Given the description of an element on the screen output the (x, y) to click on. 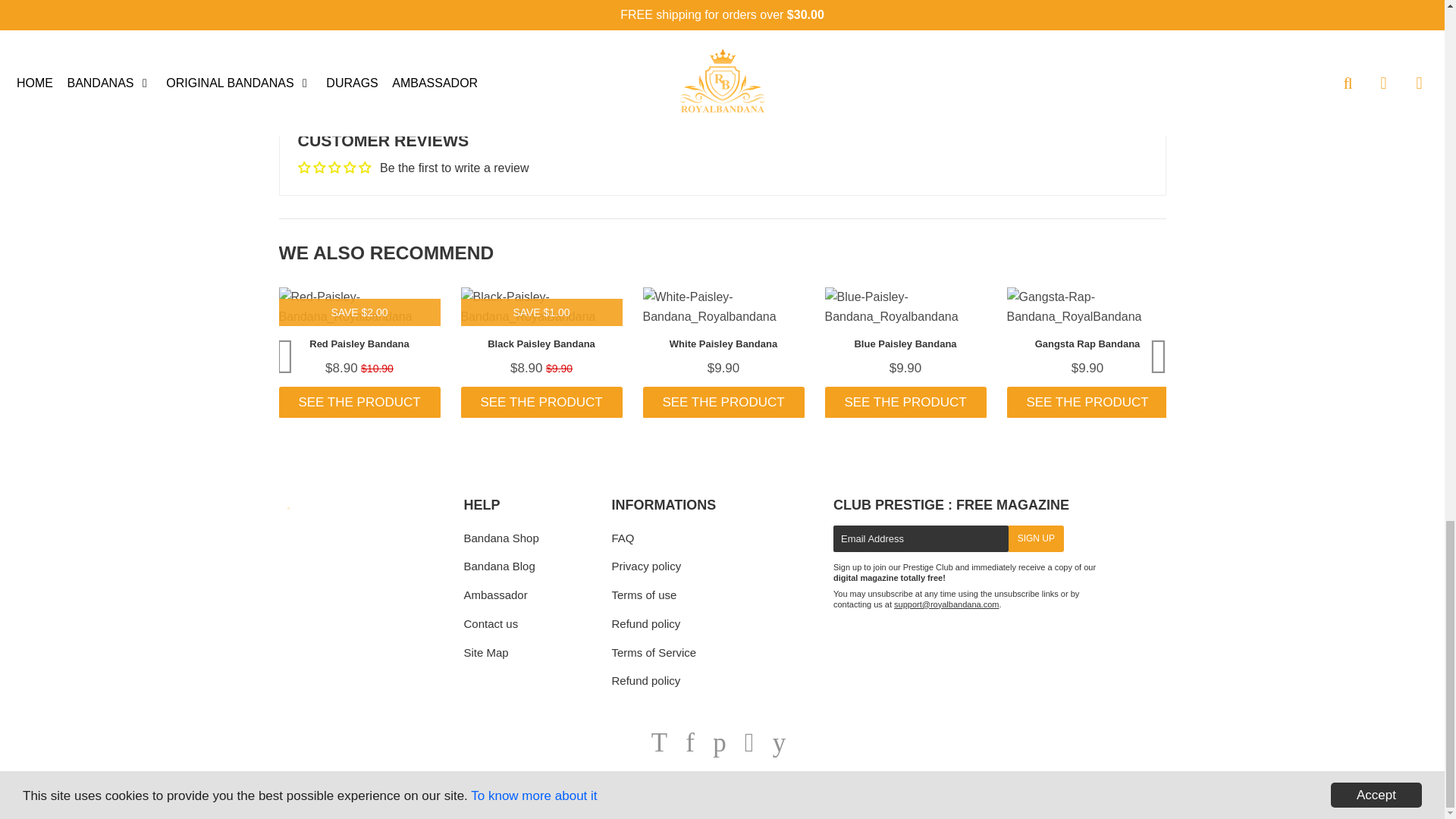
1 (347, 16)
